Given the description of an element on the screen output the (x, y) to click on. 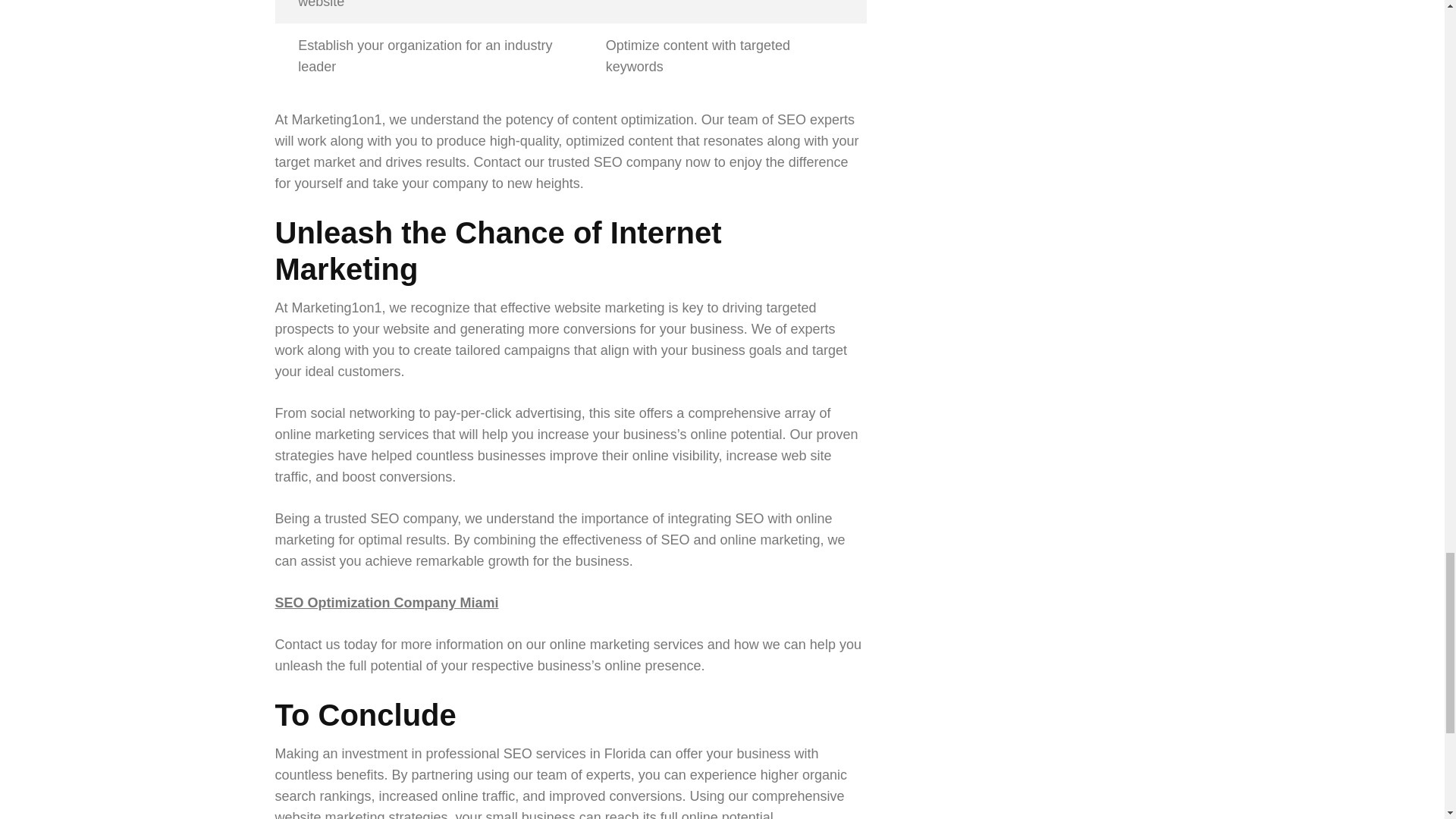
SEO Optimization Company Miami (386, 602)
